Given the description of an element on the screen output the (x, y) to click on. 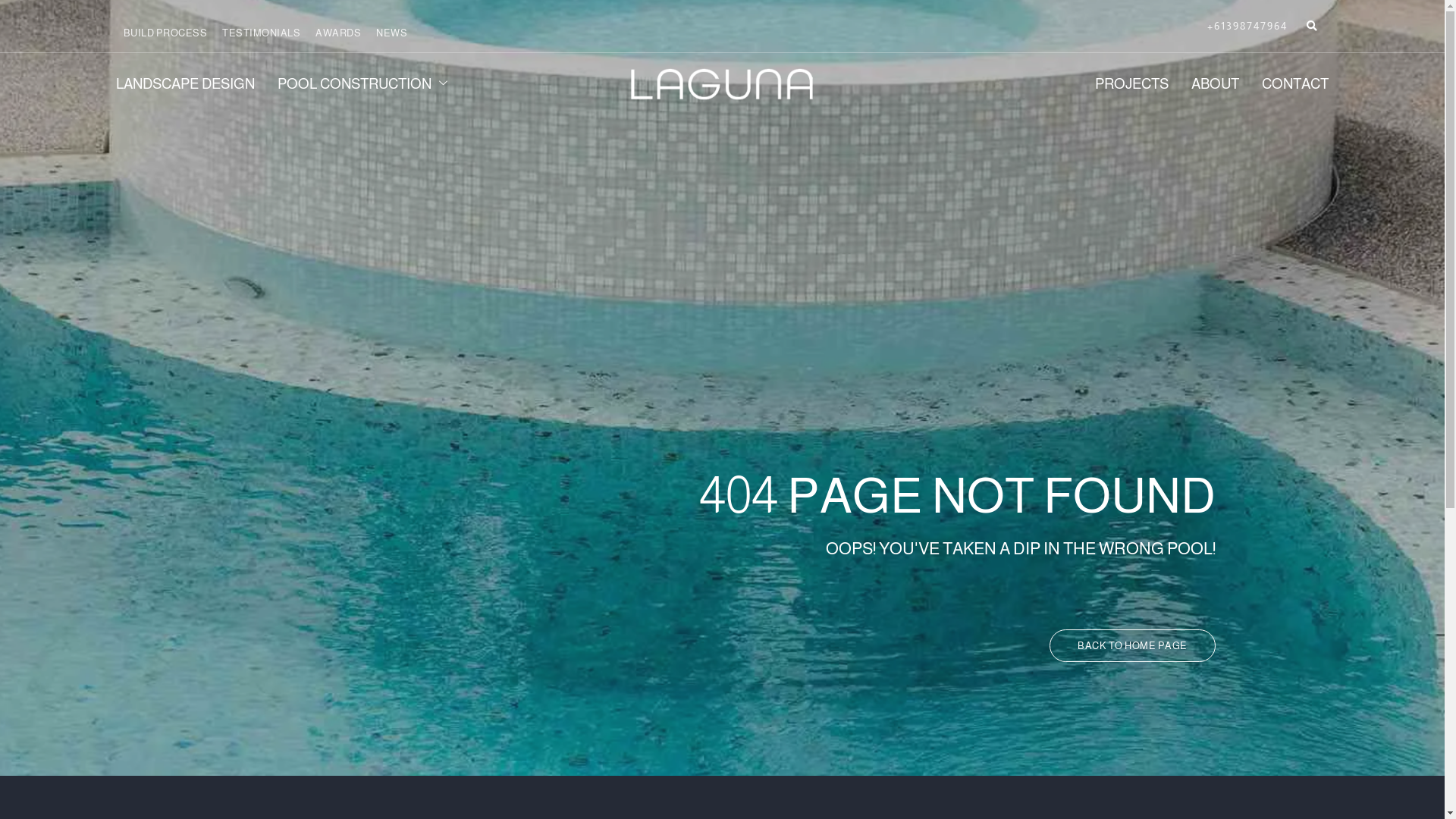
AWARDS Element type: text (337, 33)
PROJECTS Element type: text (1120, 83)
BACK TO HOME PAGE Element type: text (1132, 645)
POOL CONSTRUCTION Element type: text (375, 83)
BUILD PROCESS Element type: text (164, 33)
NEWS Element type: text (391, 33)
LANDSCAPE DESIGN Element type: text (195, 83)
ABOUT Element type: text (1203, 83)
TESTIMONIALS Element type: text (261, 33)
CONTACT Element type: text (1283, 83)
+61398747964 Element type: text (1247, 26)
